Given the description of an element on the screen output the (x, y) to click on. 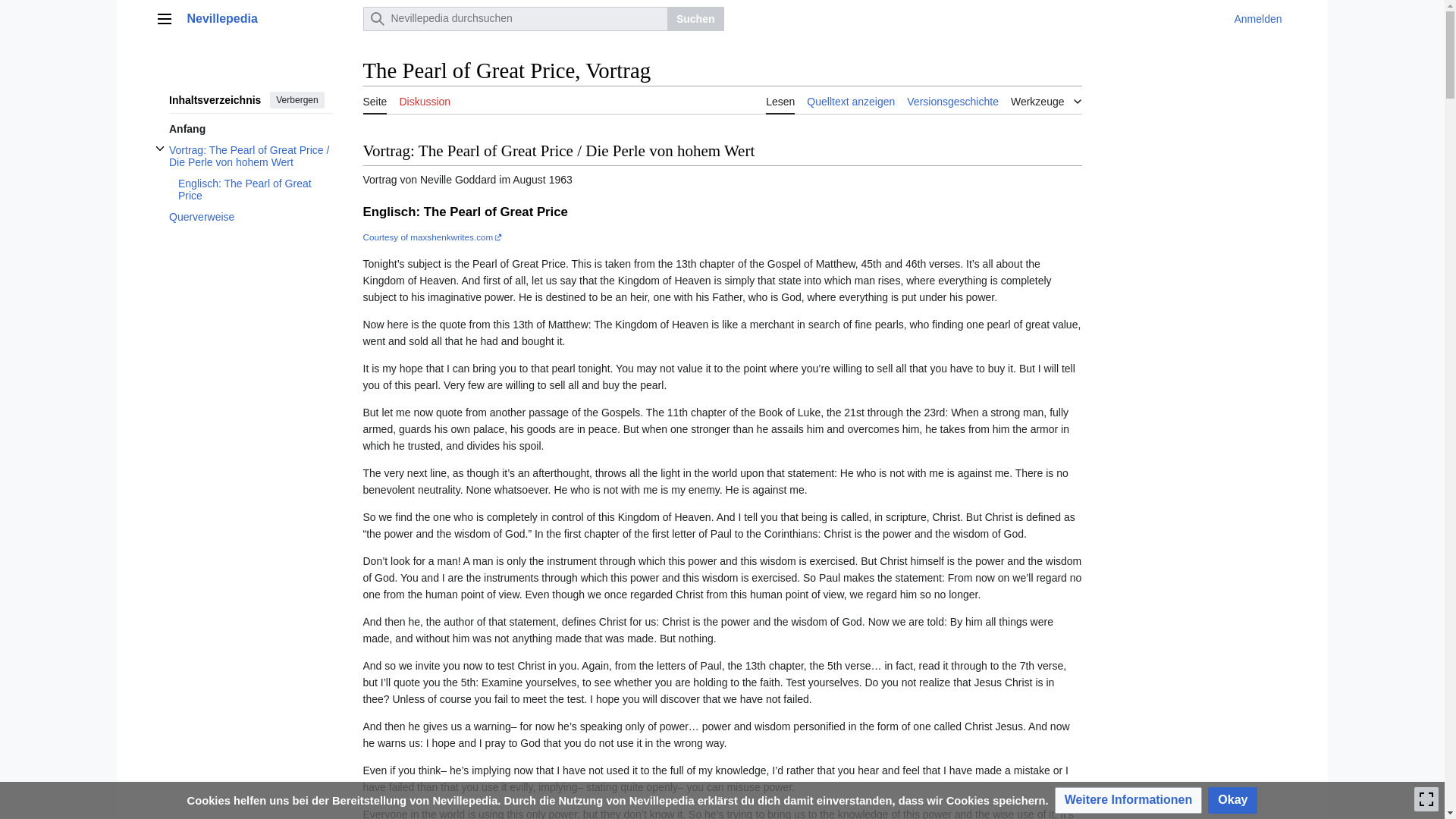
Querverweise (249, 216)
Diskussion (423, 100)
Quelltext anzeigen (850, 100)
Seite (374, 100)
Lesen (779, 100)
Nevillepedia (270, 18)
Anfang (249, 128)
Versionsgeschichte (952, 100)
Suchen (694, 18)
Anmelden (1257, 19)
Verbergen (296, 99)
Englisch: The Pearl of Great Price (254, 189)
